Given the description of an element on the screen output the (x, y) to click on. 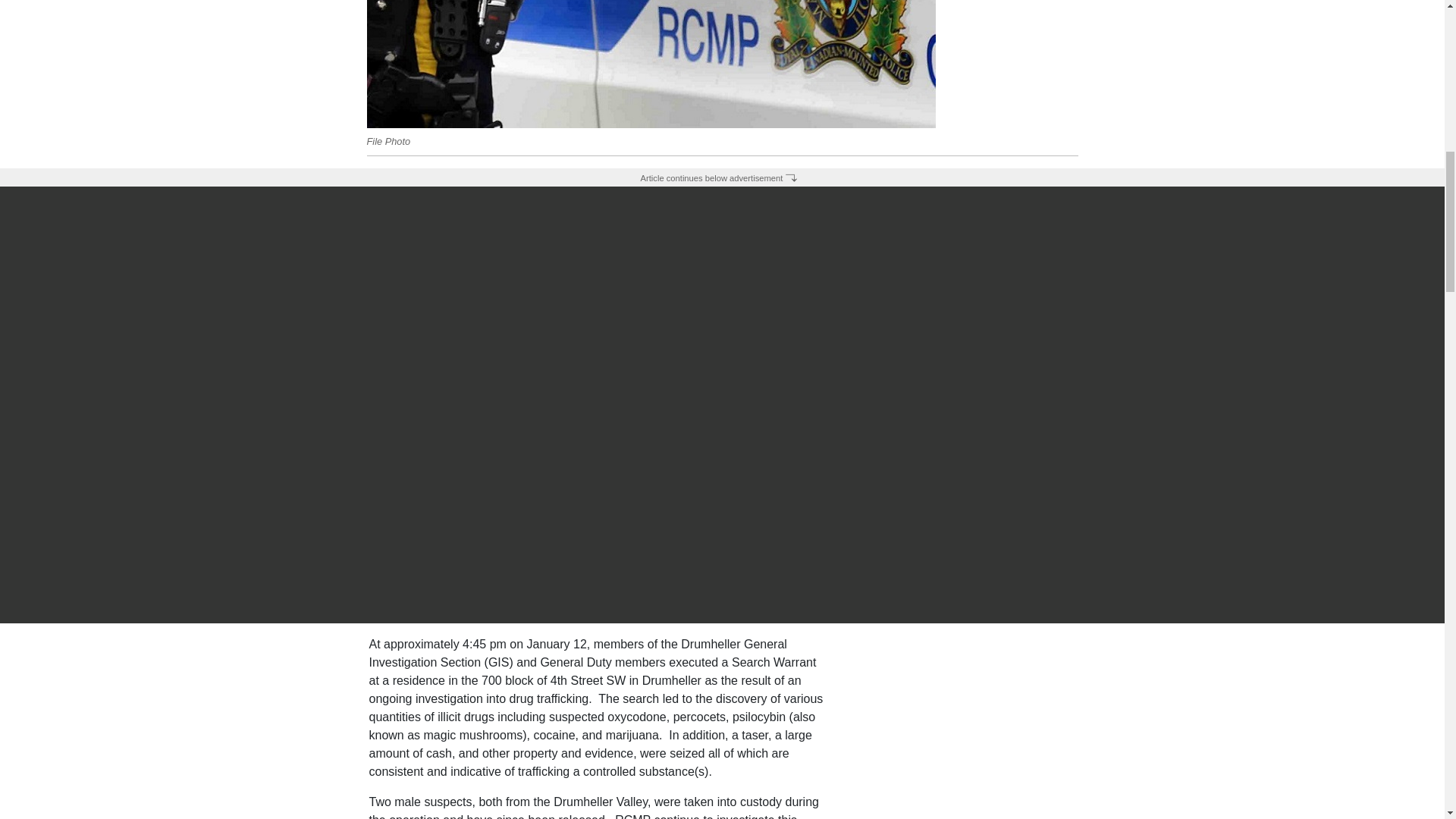
3rd party ad content (721, 26)
3rd party ad content (961, 727)
